Given the description of an element on the screen output the (x, y) to click on. 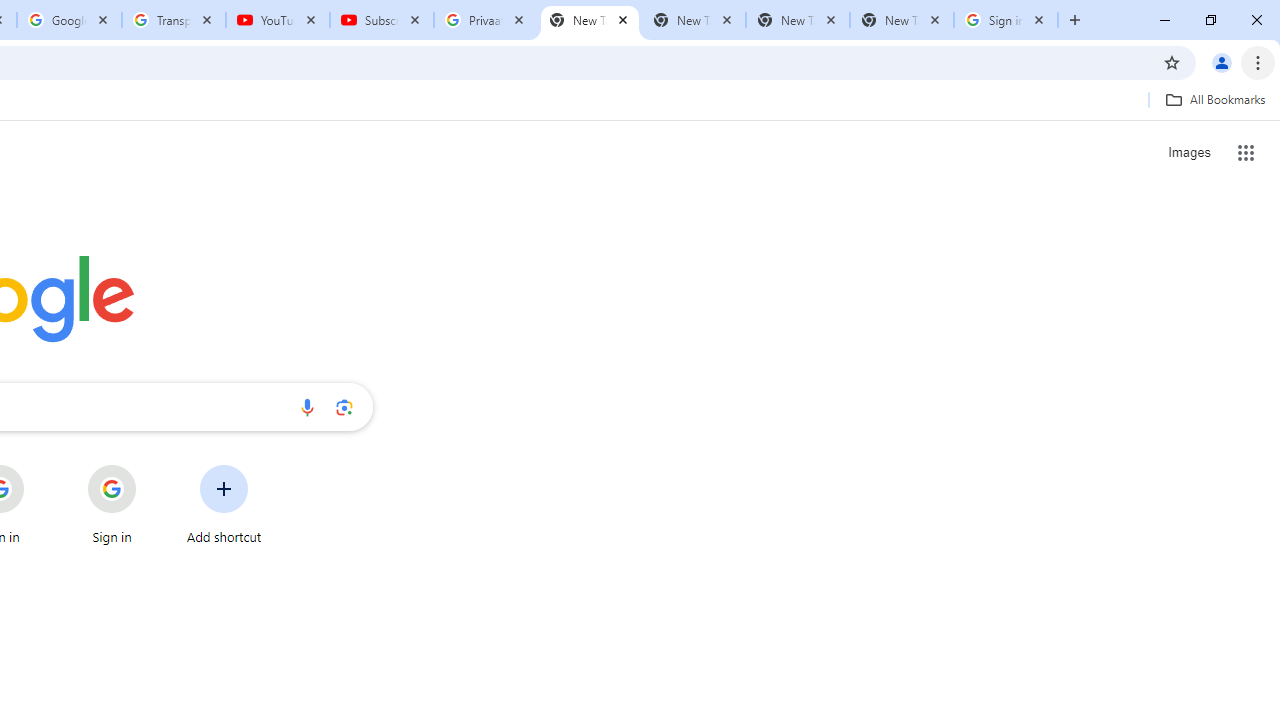
Sign in (875, 32)
More templates (1105, 448)
More documents (1100, 666)
